Given the description of an element on the screen output the (x, y) to click on. 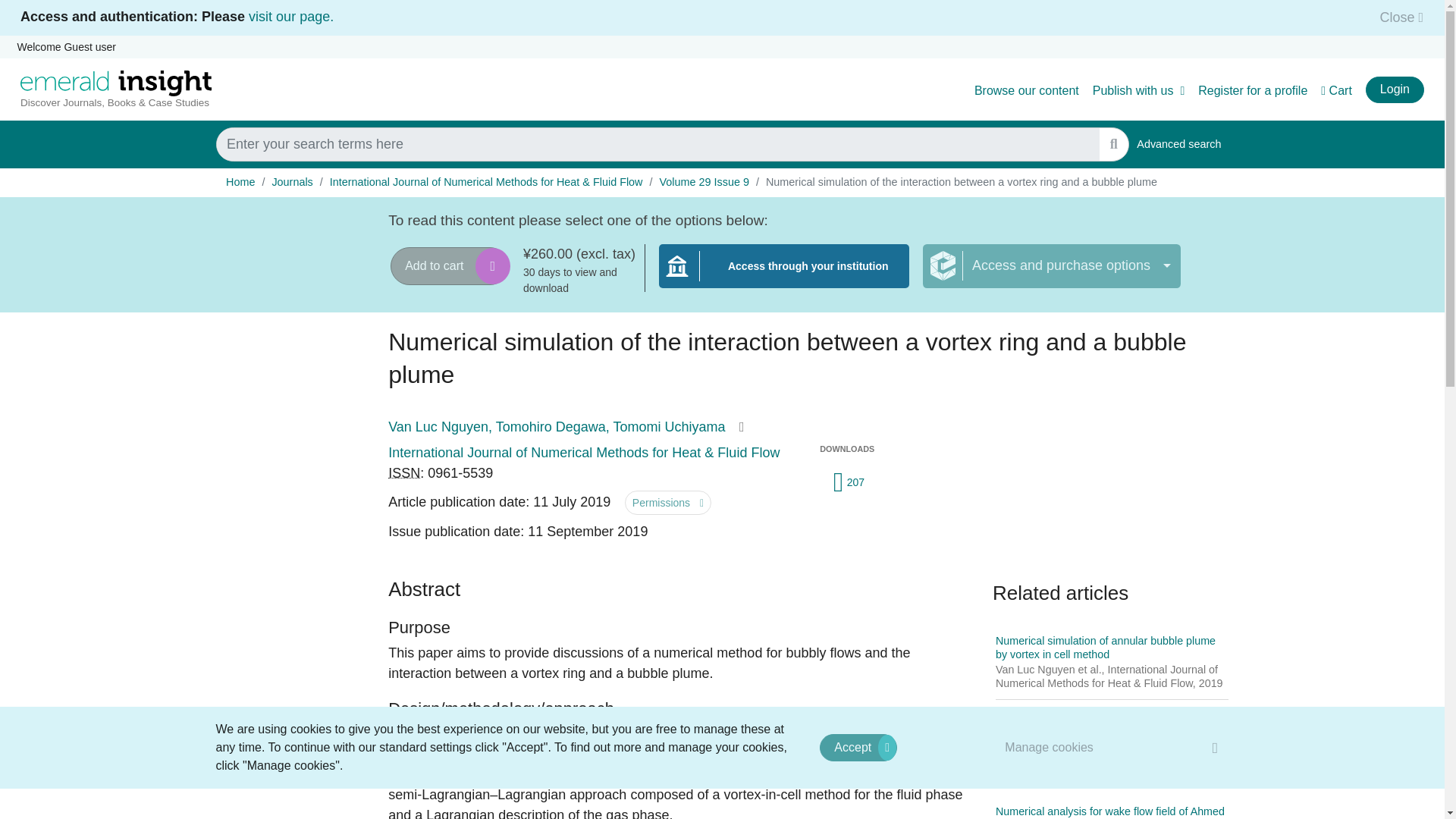
Access through your institution (783, 275)
Browse our content (1026, 90)
Publish with us (1139, 90)
Journals (291, 182)
SUBMIT (1113, 143)
Cart (1336, 90)
visit our page. (290, 16)
International Standard Serial Number. (404, 473)
Register for a profile (1252, 90)
Close (1397, 17)
Manage cookies (1178, 144)
Login (1049, 747)
